Given the description of an element on the screen output the (x, y) to click on. 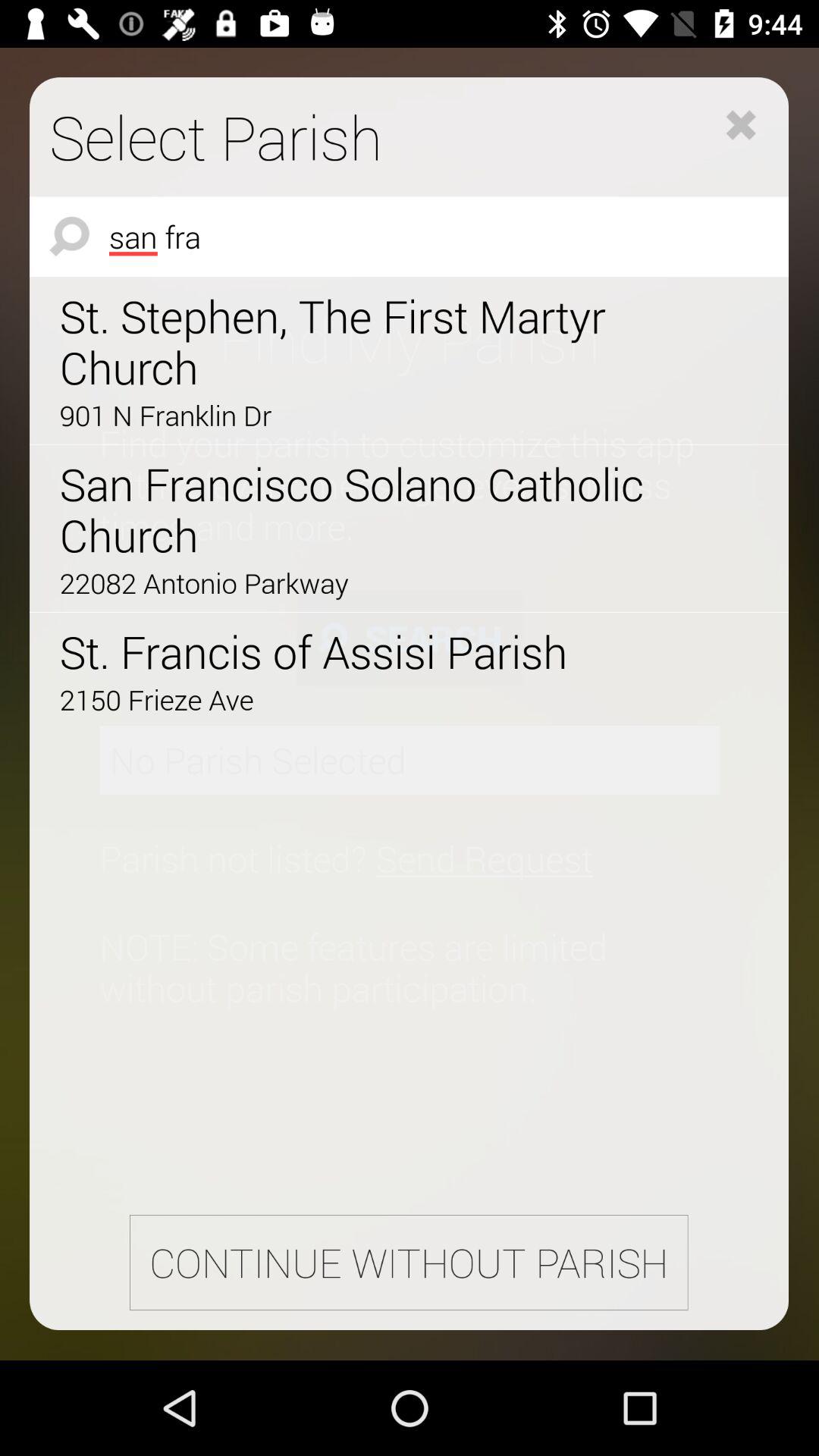
click 901 n franklin item (366, 414)
